Given the description of an element on the screen output the (x, y) to click on. 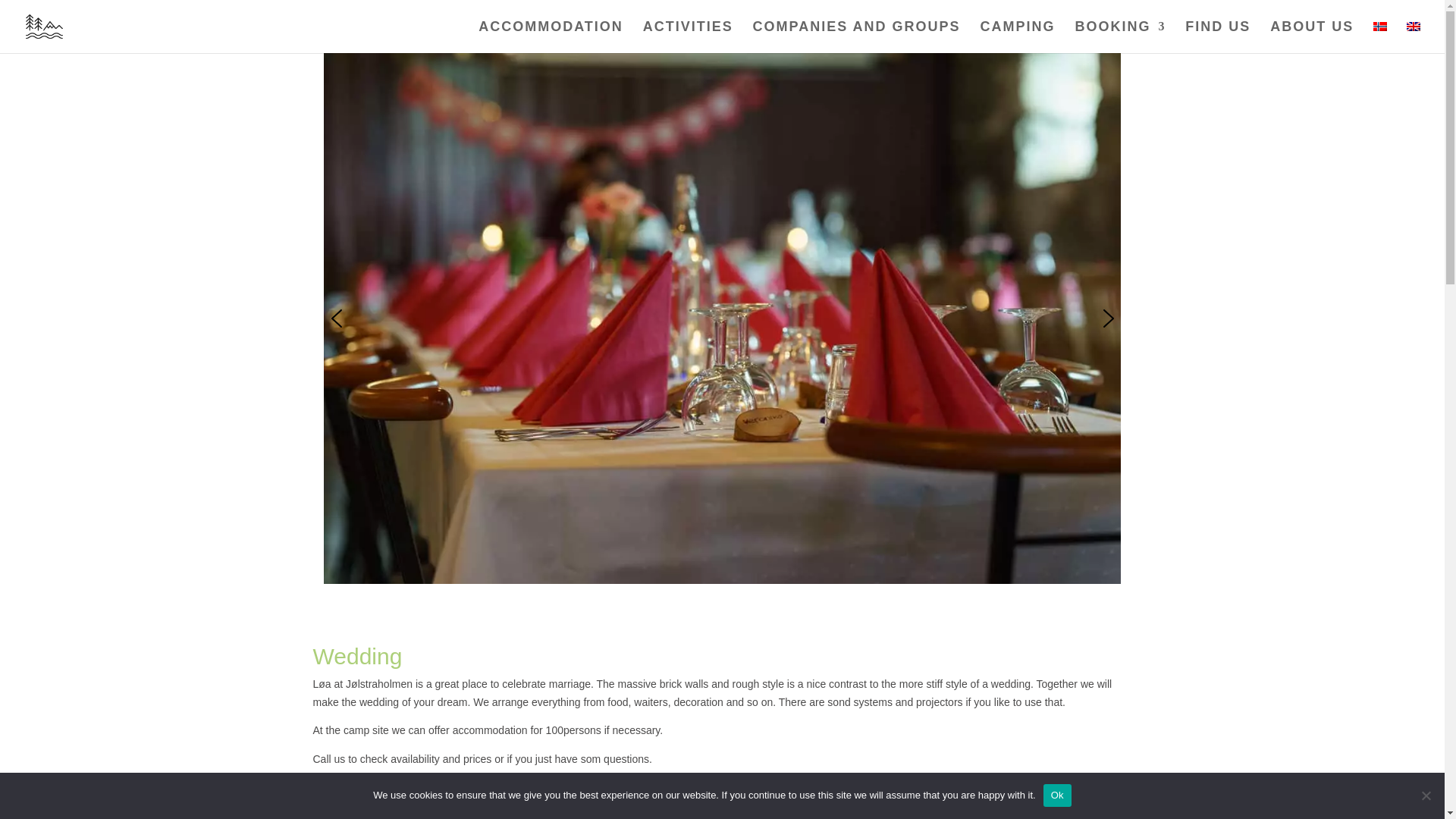
ACCOMMODATION (551, 37)
BOOKING (1120, 37)
COMPANIES AND GROUPS (856, 37)
FIND US (1217, 37)
CAMPING (1017, 37)
No (1425, 795)
ABOUT US (1311, 37)
ACTIVITIES (688, 37)
